Given the description of an element on the screen output the (x, y) to click on. 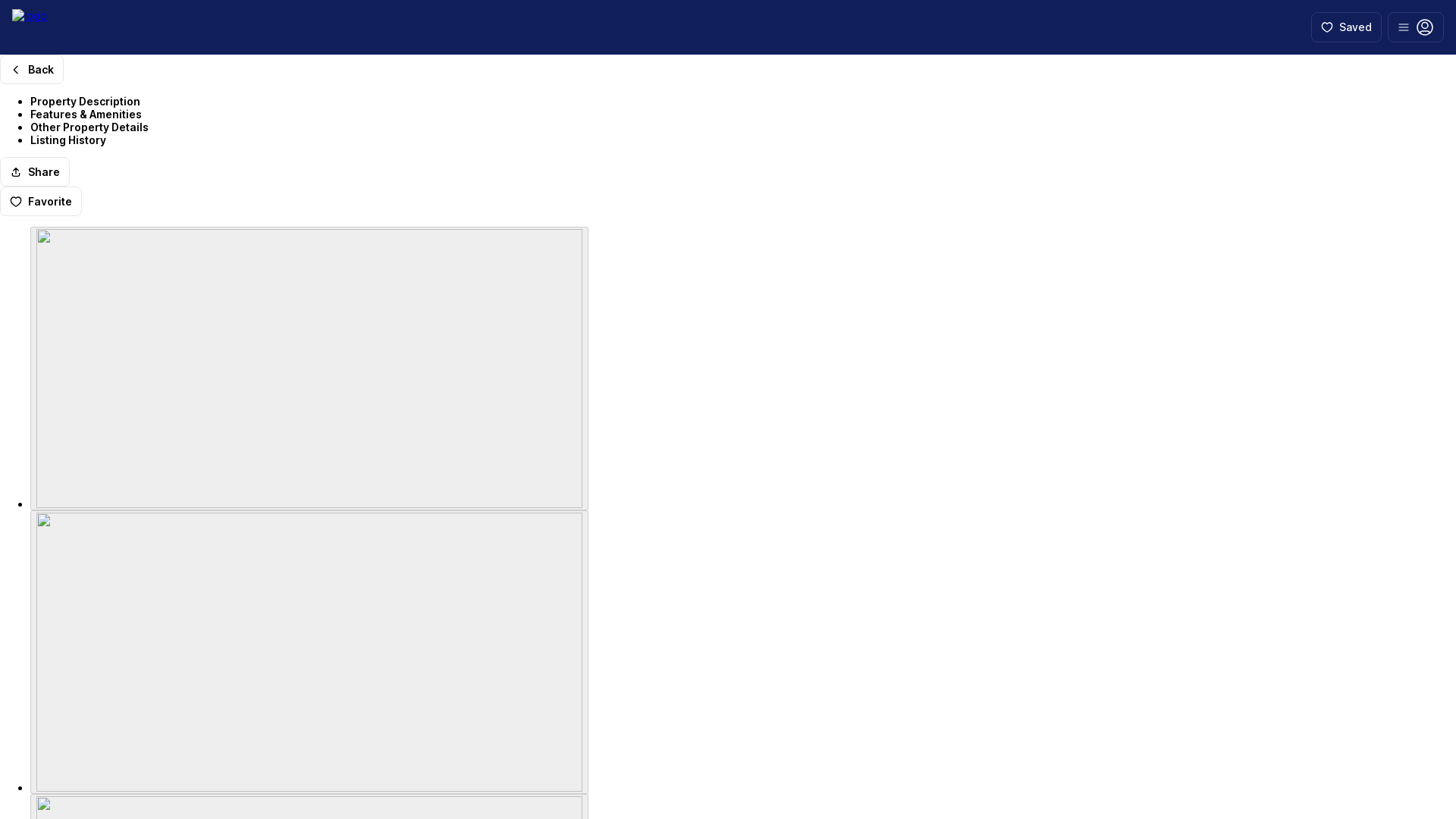
Go to: Homepage (28, 27)
Back (32, 69)
Favorite (40, 201)
Saved (1346, 27)
Share (34, 171)
Property Description (84, 101)
Other Property Details (89, 126)
Listing History (68, 139)
